Given the description of an element on the screen output the (x, y) to click on. 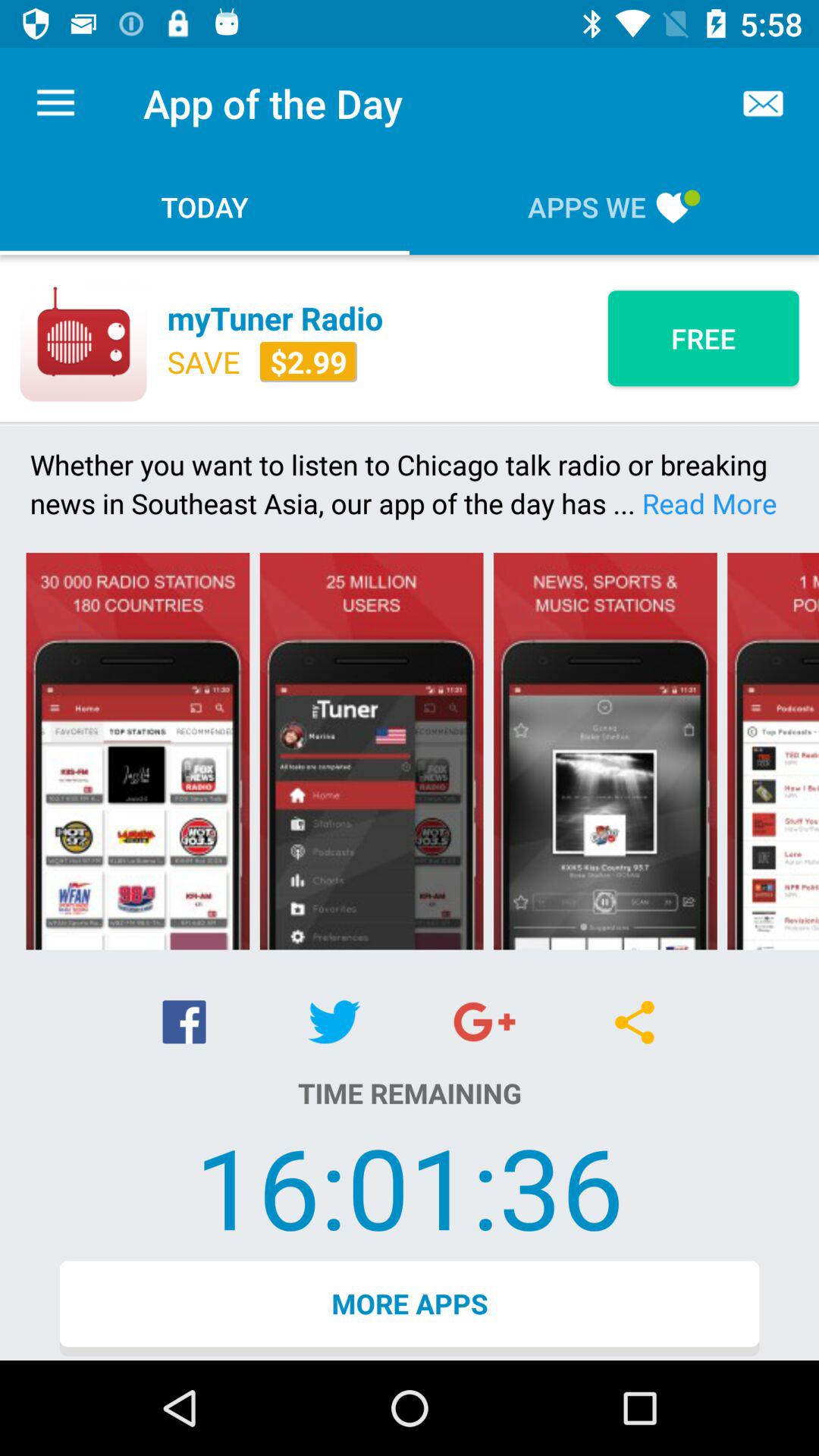
press whether you want item (409, 483)
